Given the description of an element on the screen output the (x, y) to click on. 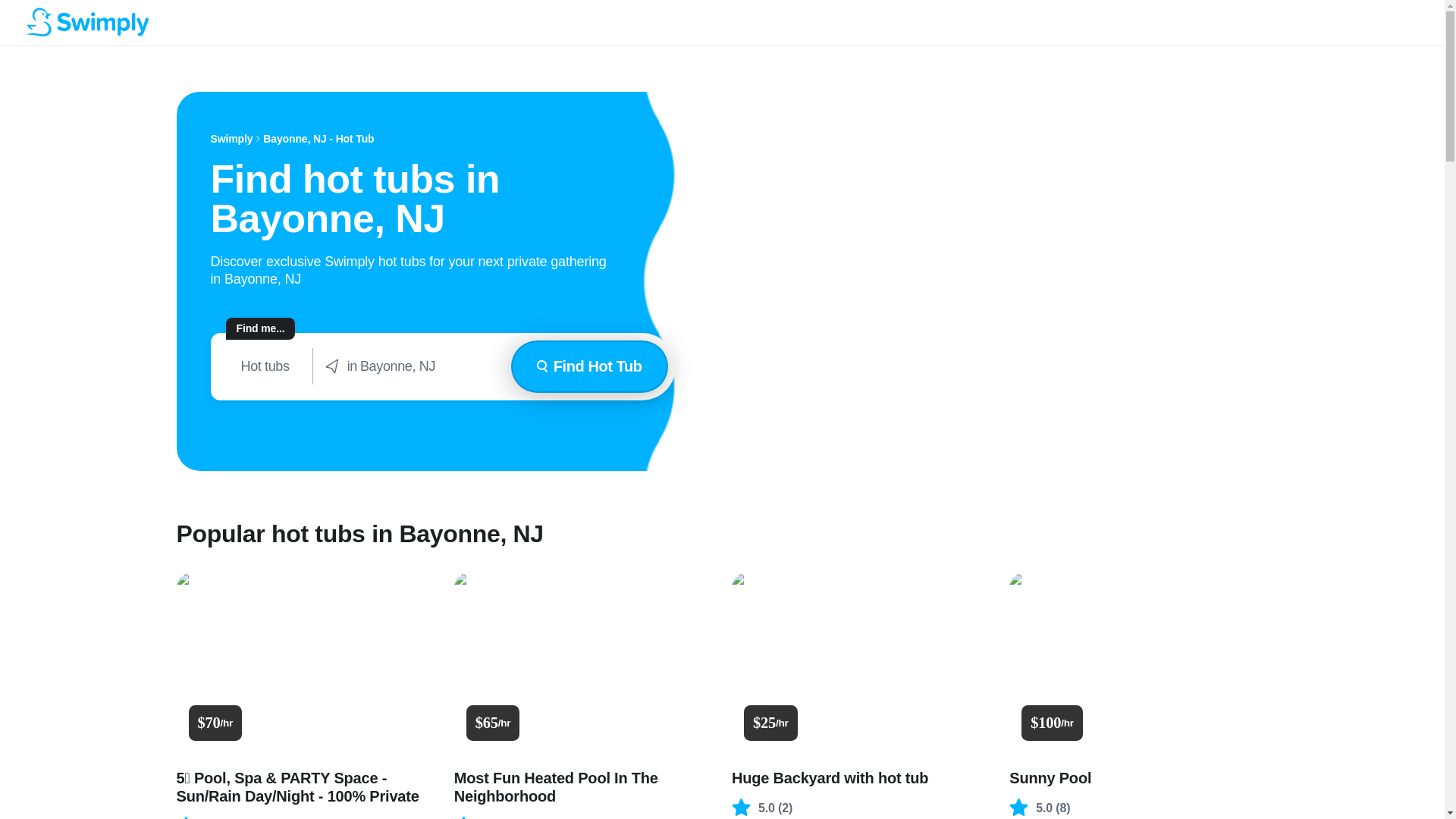
Hot tubs (265, 366)
Bayonne, NJ - Hot Tub (318, 138)
Find Hot Tub (589, 366)
Swimply (232, 138)
